Given the description of an element on the screen output the (x, y) to click on. 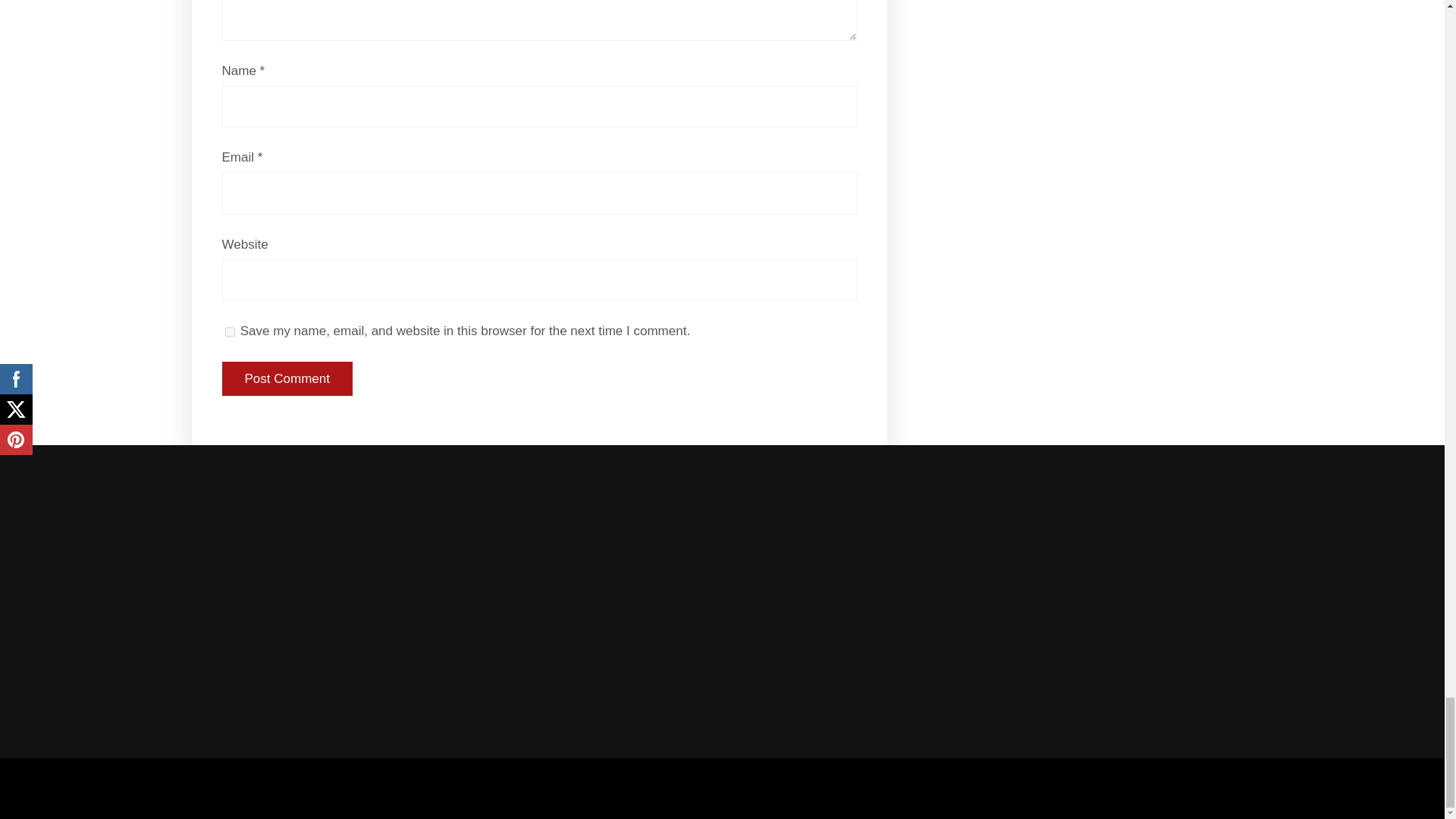
Post Comment (286, 378)
